Given the description of an element on the screen output the (x, y) to click on. 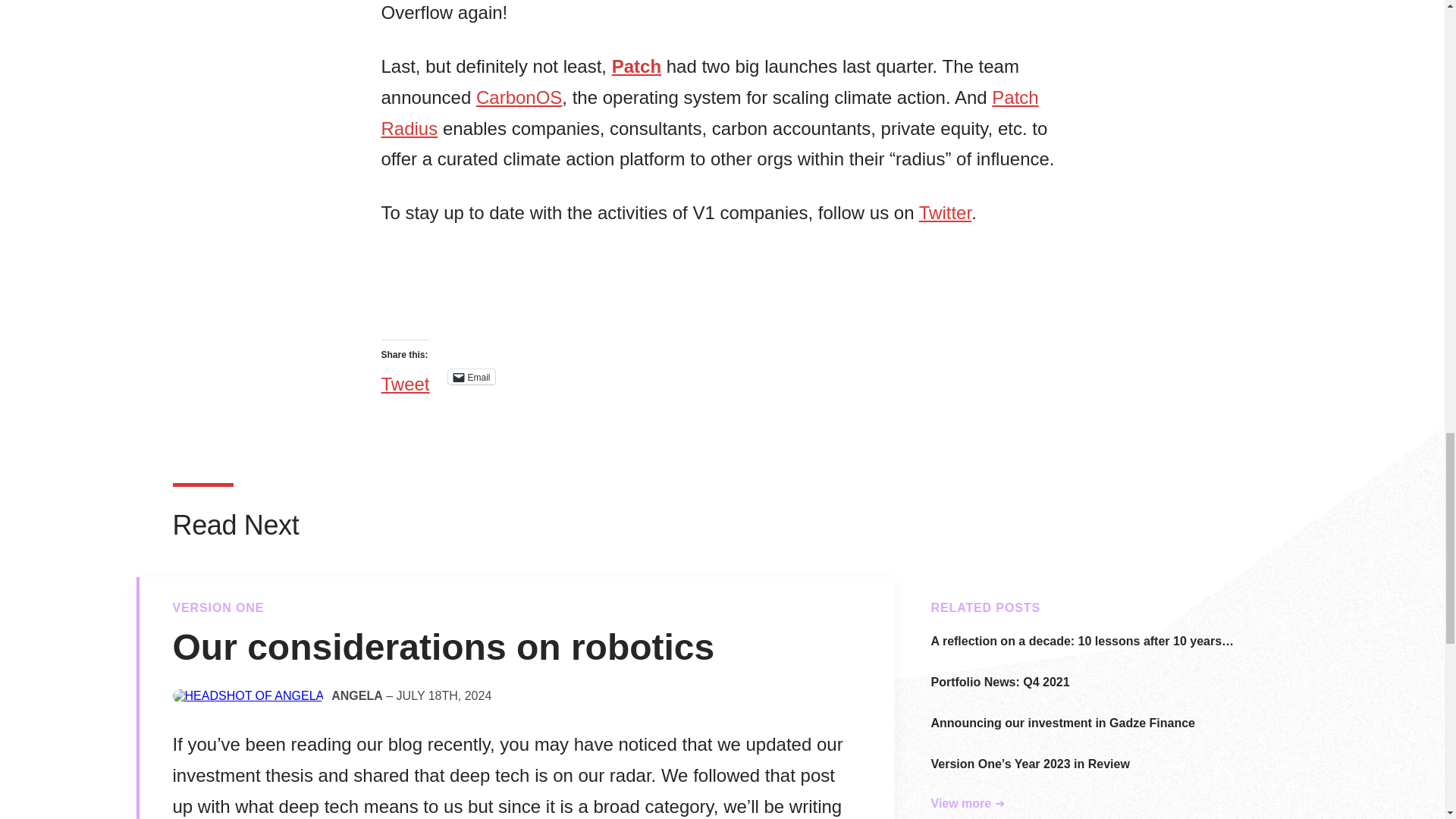
Email (471, 376)
Headshot of Angela (248, 695)
Tweet (404, 376)
ANGELA (356, 695)
Our considerations on robotics (443, 647)
Click to email a link to a friend (471, 376)
CarbonOS (519, 96)
Patch (636, 66)
Patch Radius (709, 112)
Twitter (944, 212)
